Given the description of an element on the screen output the (x, y) to click on. 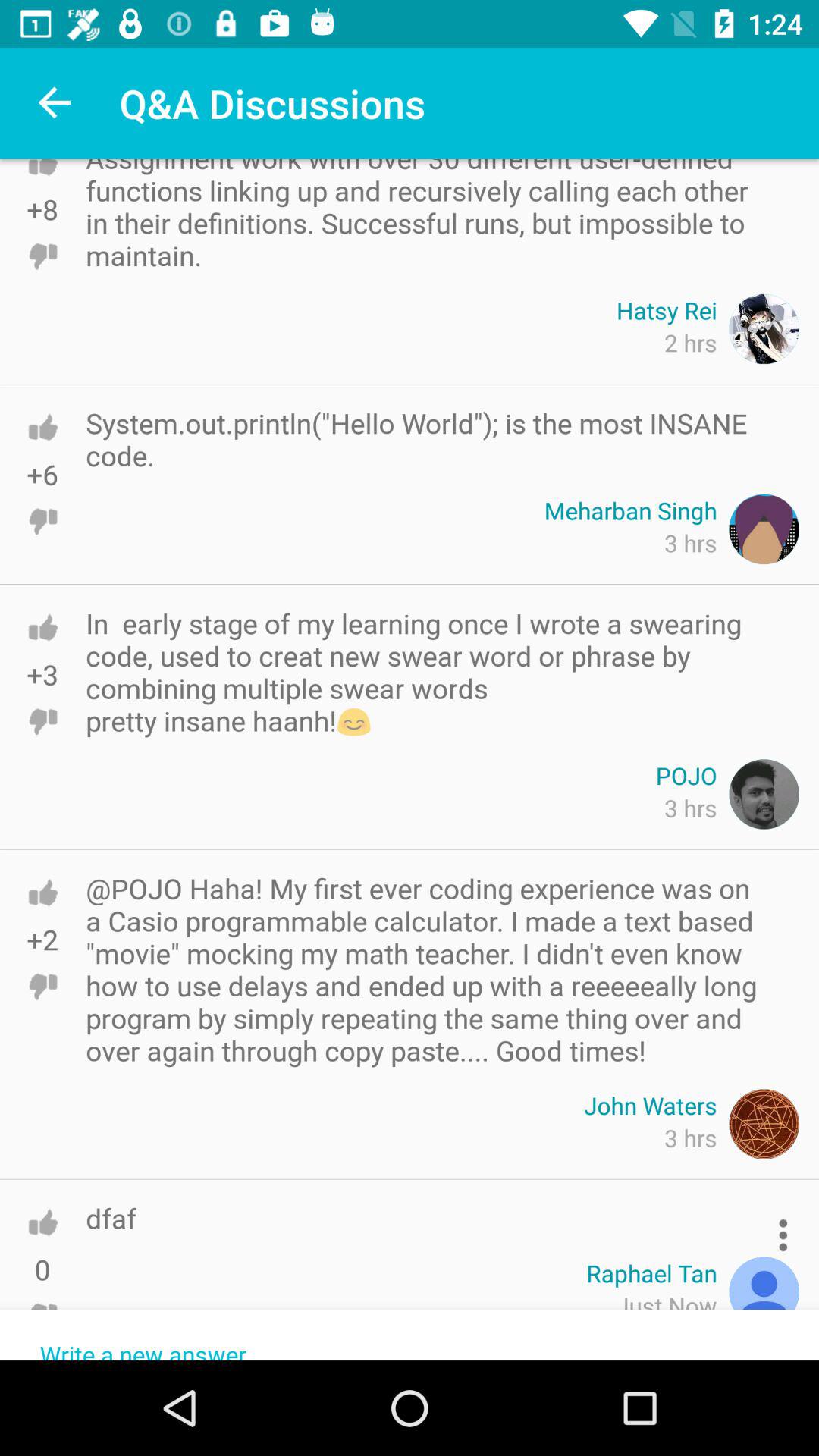
thumbs up the post (42, 892)
